Given the description of an element on the screen output the (x, y) to click on. 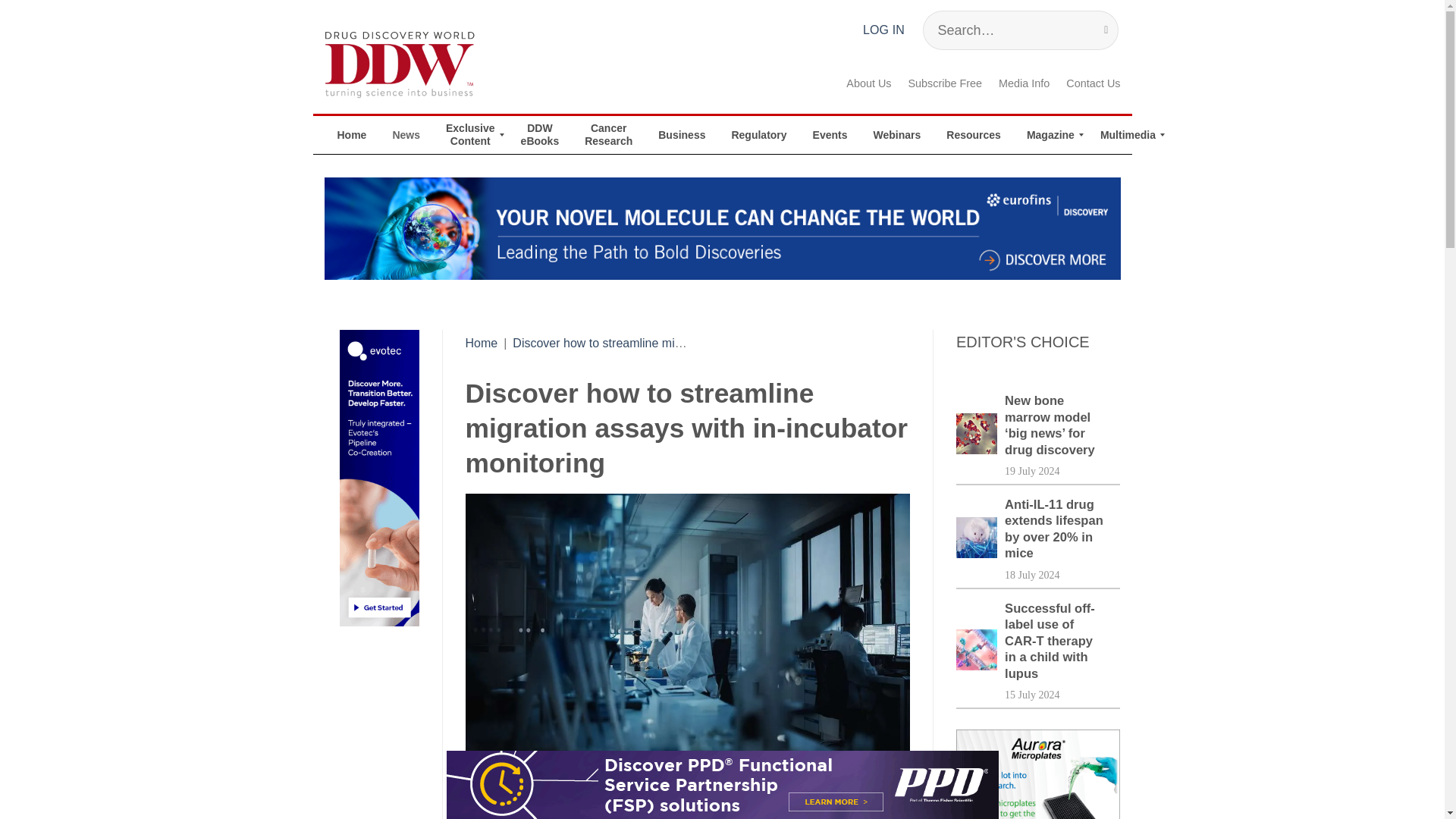
Multimedia (1128, 134)
Discover more (722, 228)
Cancer Research (608, 134)
Learn more (721, 785)
Webinars (897, 134)
Events (829, 134)
Business (681, 134)
LOG IN (883, 30)
Magazine (1050, 134)
Resources (973, 134)
DDW eBooks (540, 134)
Learn more (1038, 774)
Regulatory (758, 134)
Home (481, 342)
